Given the description of an element on the screen output the (x, y) to click on. 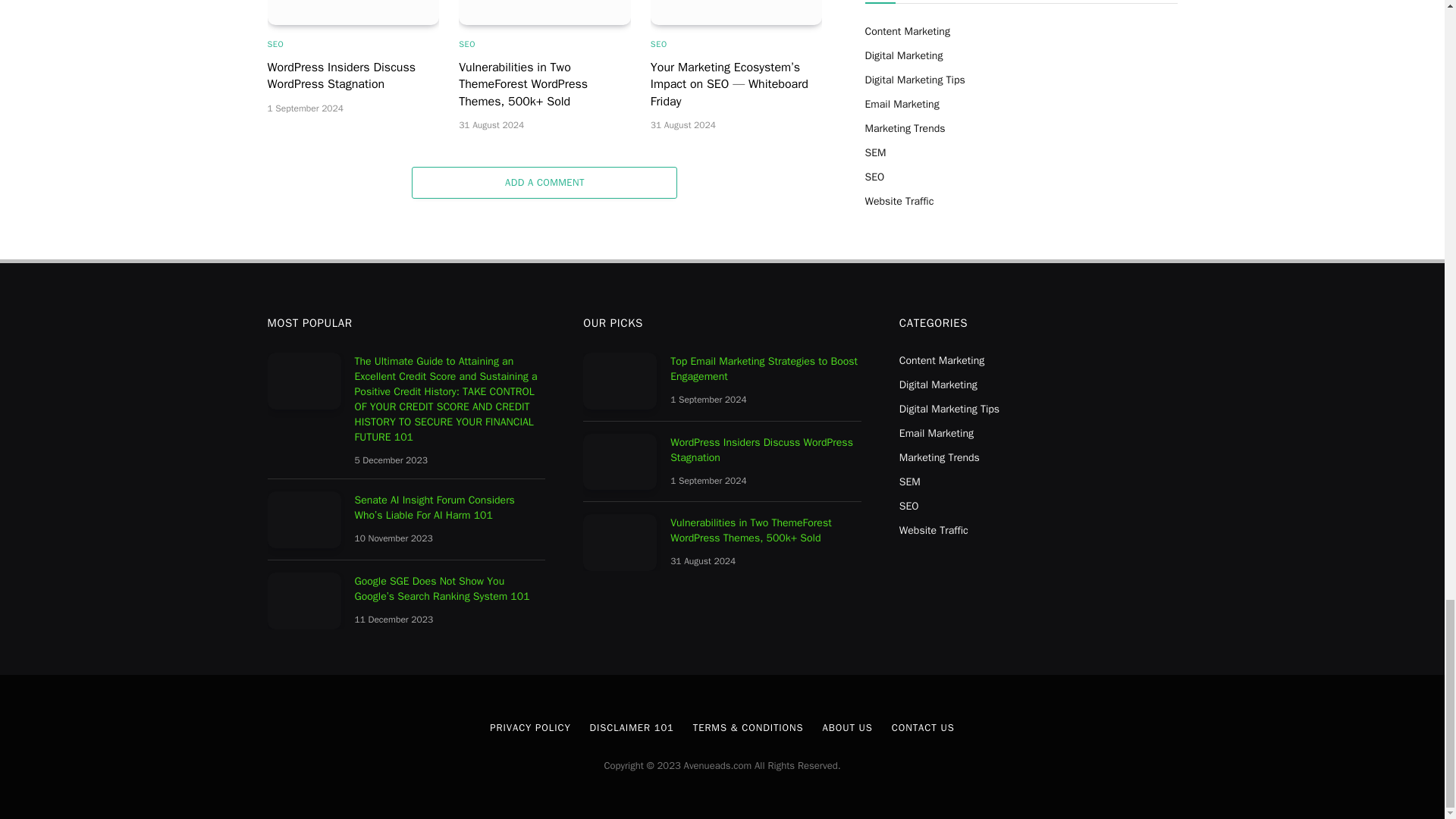
WordPress Insiders Discuss WordPress Stagnation (352, 75)
SEO (274, 43)
WordPress Insiders Discuss WordPress Stagnation (352, 12)
